Given the description of an element on the screen output the (x, y) to click on. 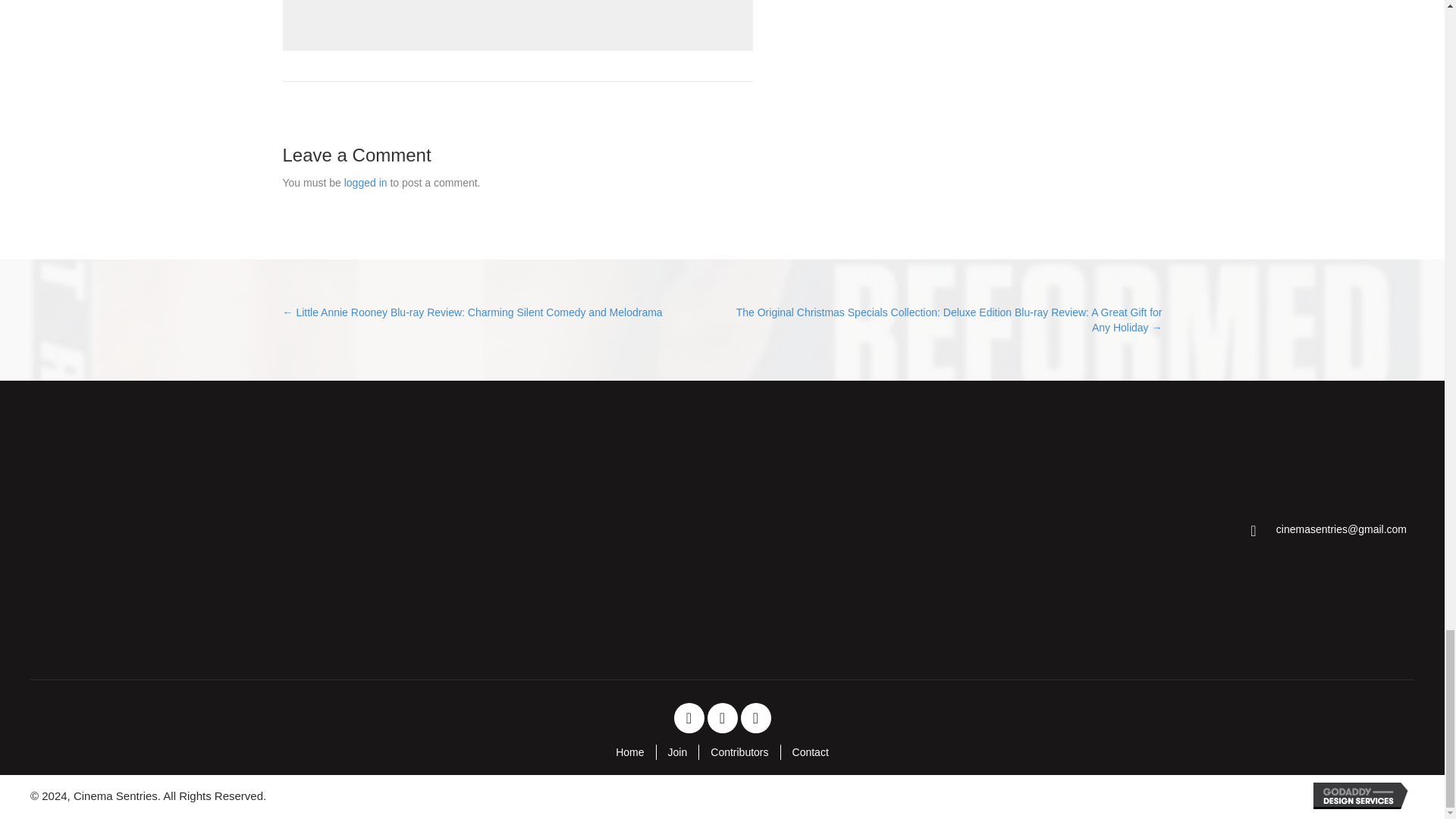
logged in (365, 182)
Facebook (687, 717)
Instagram (754, 717)
Twitter (721, 717)
Cinema Sentries (148, 530)
